Given the description of an element on the screen output the (x, y) to click on. 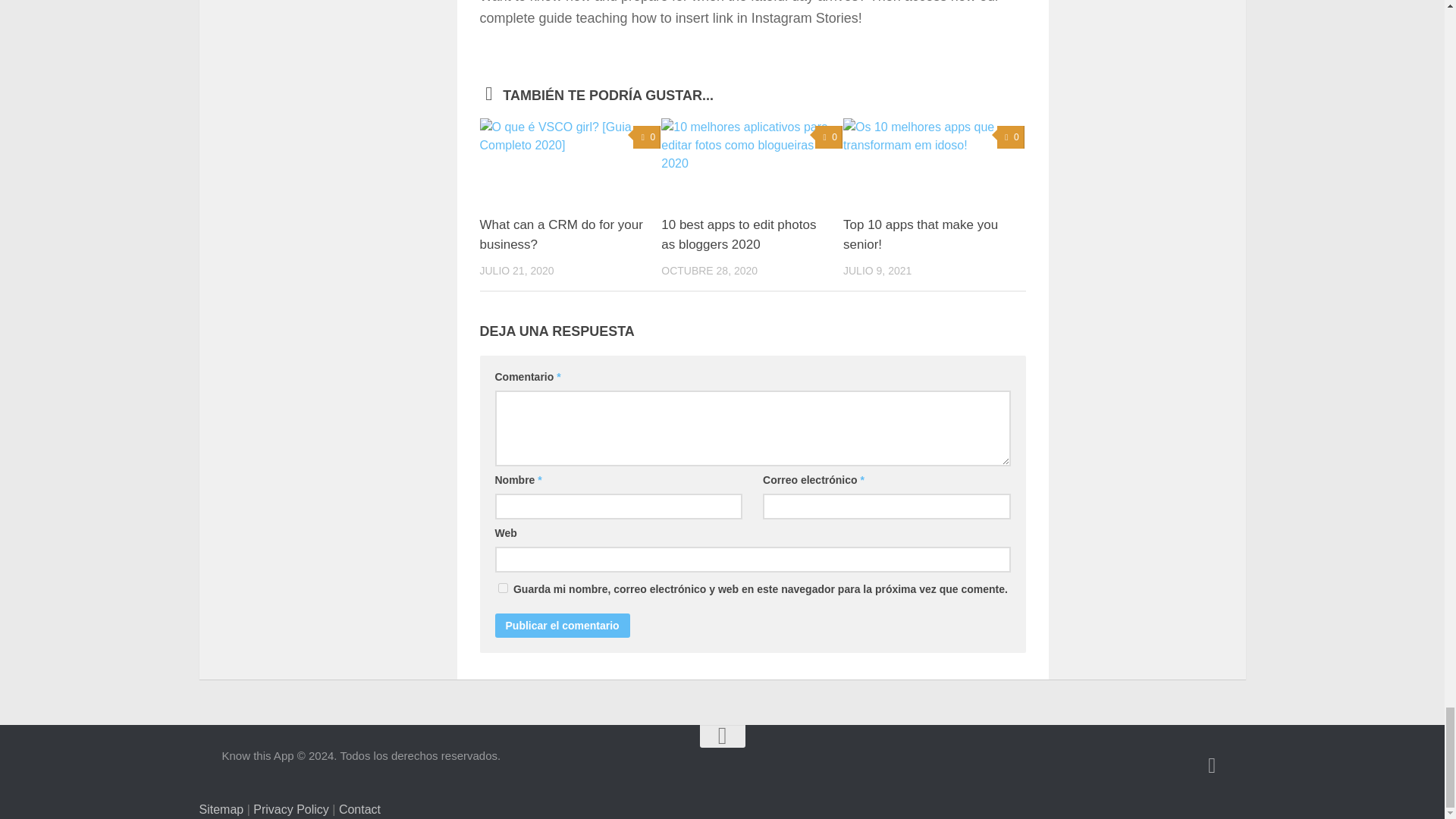
Publicar el comentario (561, 625)
yes (501, 587)
10 best apps to edit photos as bloggers 2020 (738, 234)
Enlace permanente a What can a CRM do for your business? (560, 234)
Publicar el comentario (561, 625)
Top 10 apps that make you senior! (920, 234)
What can a CRM do for your business? (560, 234)
0 (1011, 137)
Enlace permanente a Top 10 apps that make you senior! (920, 234)
0 (829, 137)
0 (647, 137)
